Given the description of an element on the screen output the (x, y) to click on. 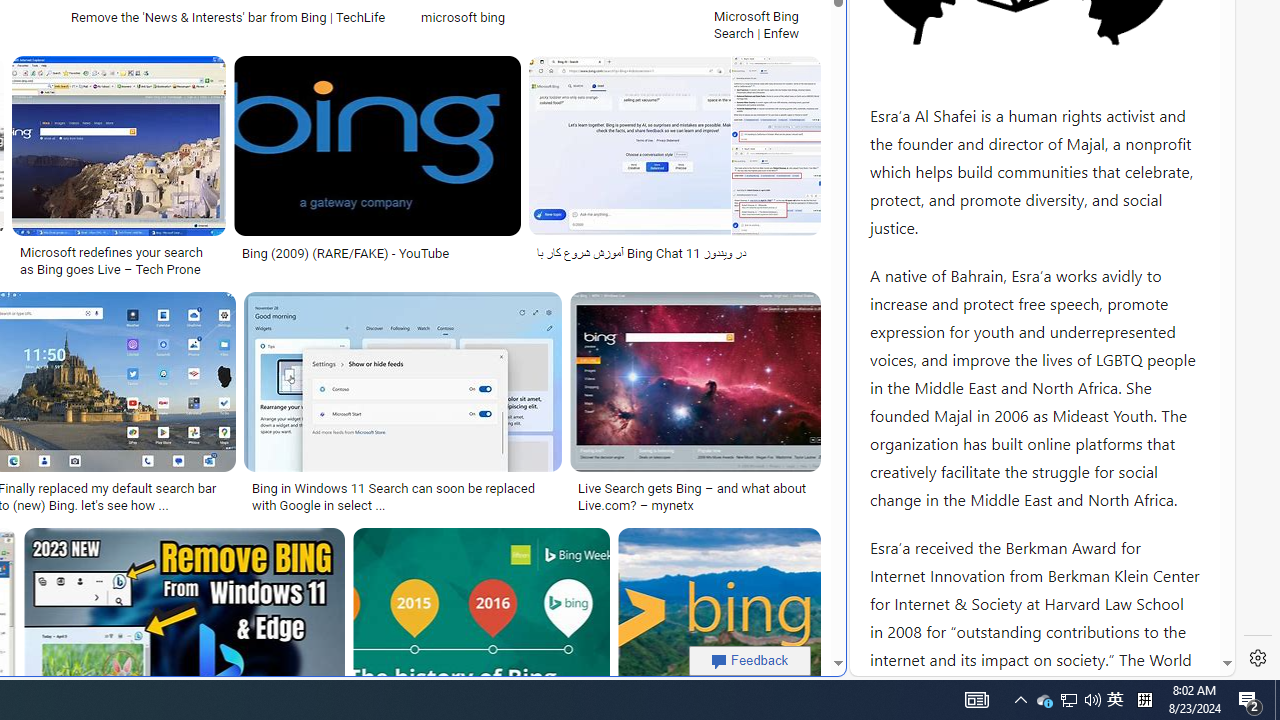
Microsoft Bing Search | Enfew (763, 24)
Remove the 'News & Interests' bar from Bing | TechLife (228, 16)
